Given the description of an element on the screen output the (x, y) to click on. 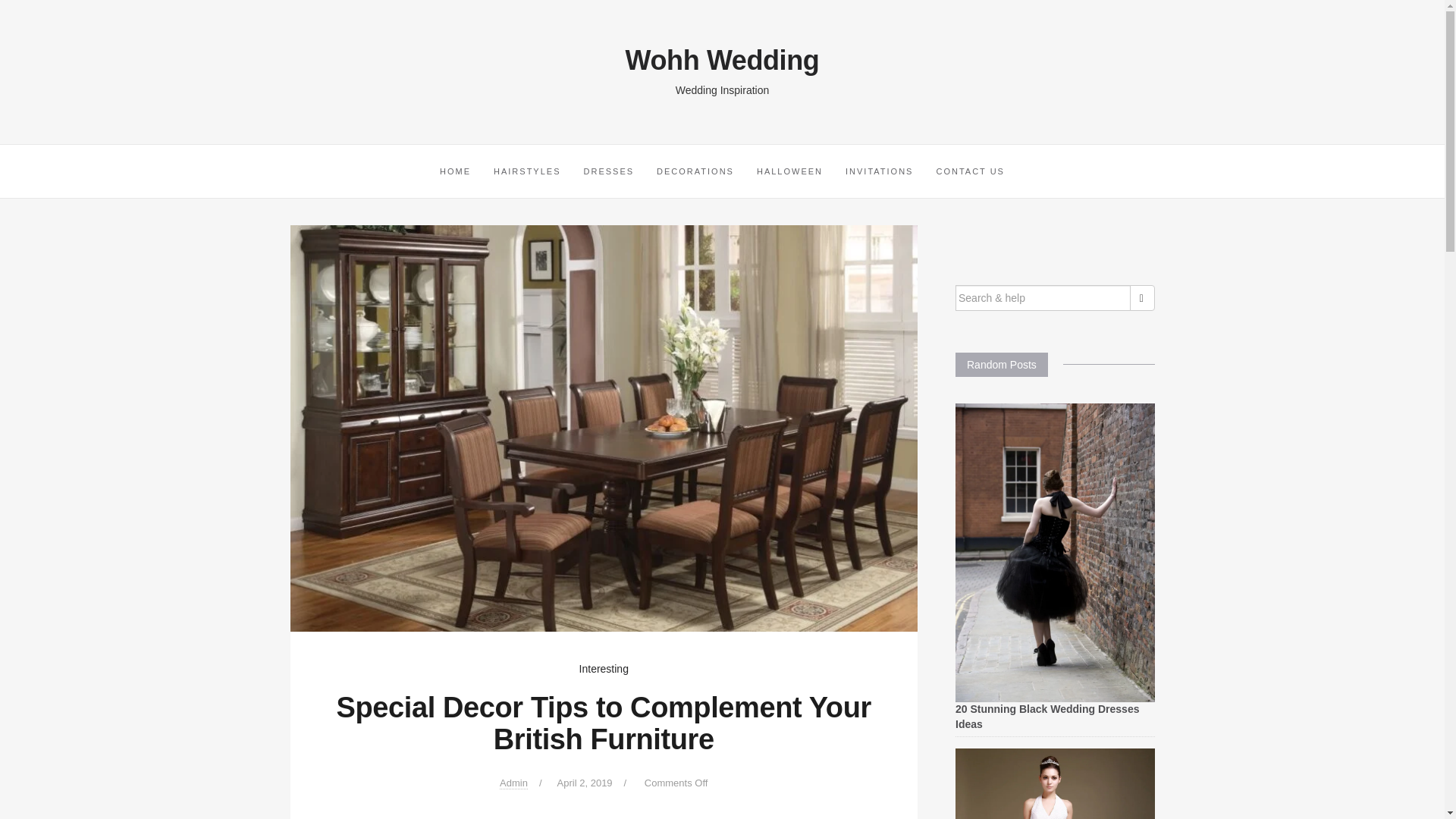
DRESSES (608, 171)
CONTACT US (970, 171)
Hairstyles (526, 171)
Home (454, 171)
Search for: (1043, 298)
INVITATIONS (879, 171)
Special Decor Tips to Complement Your British Furniture (603, 427)
DECORATIONS (695, 171)
HALLOWEEN (789, 171)
Decorations (695, 171)
Contact Us (970, 171)
Invitations (879, 171)
Halloween (789, 171)
HAIRSTYLES (526, 171)
HOME (454, 171)
